Given the description of an element on the screen output the (x, y) to click on. 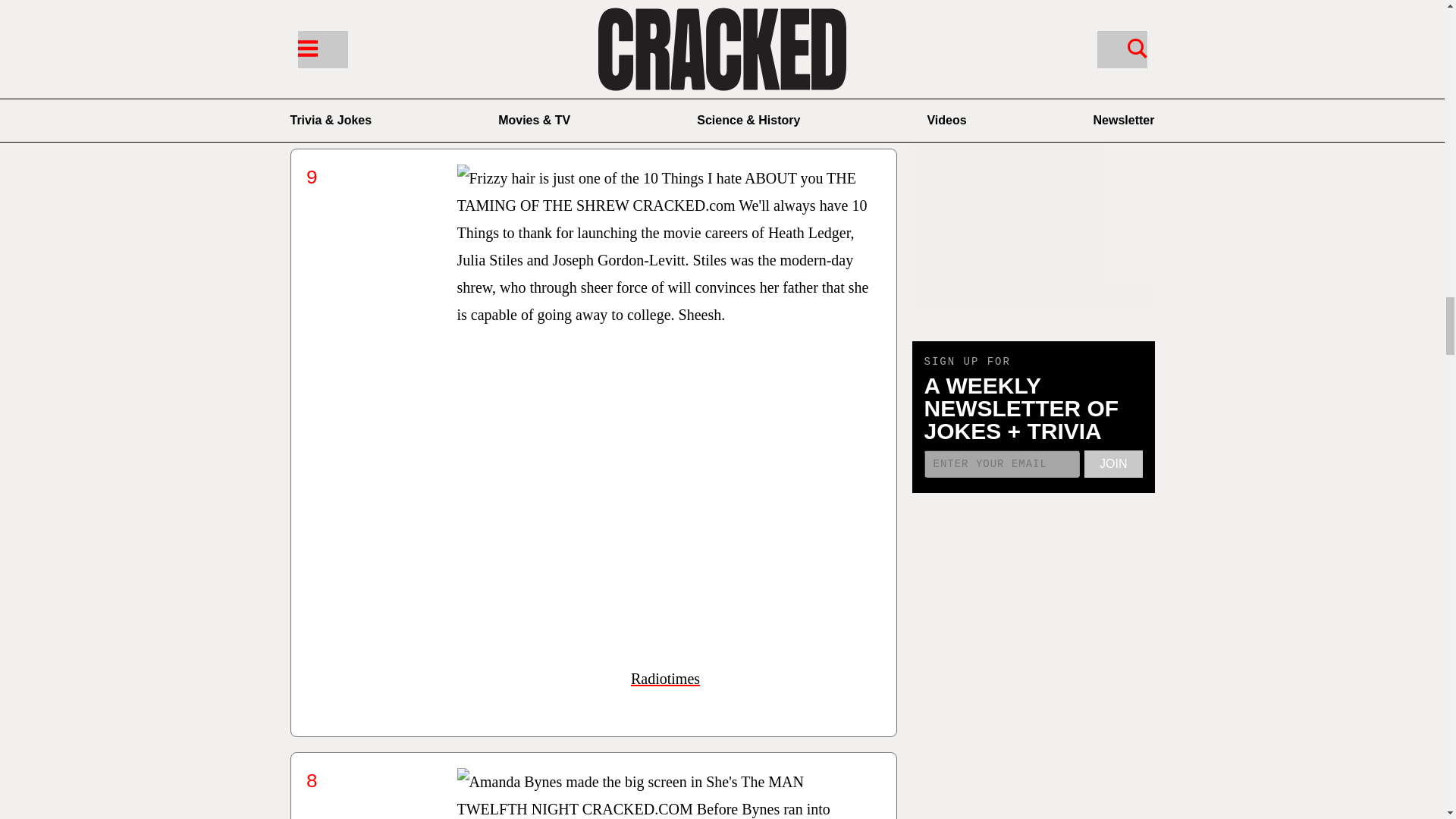
Radiotimes (665, 678)
